Given the description of an element on the screen output the (x, y) to click on. 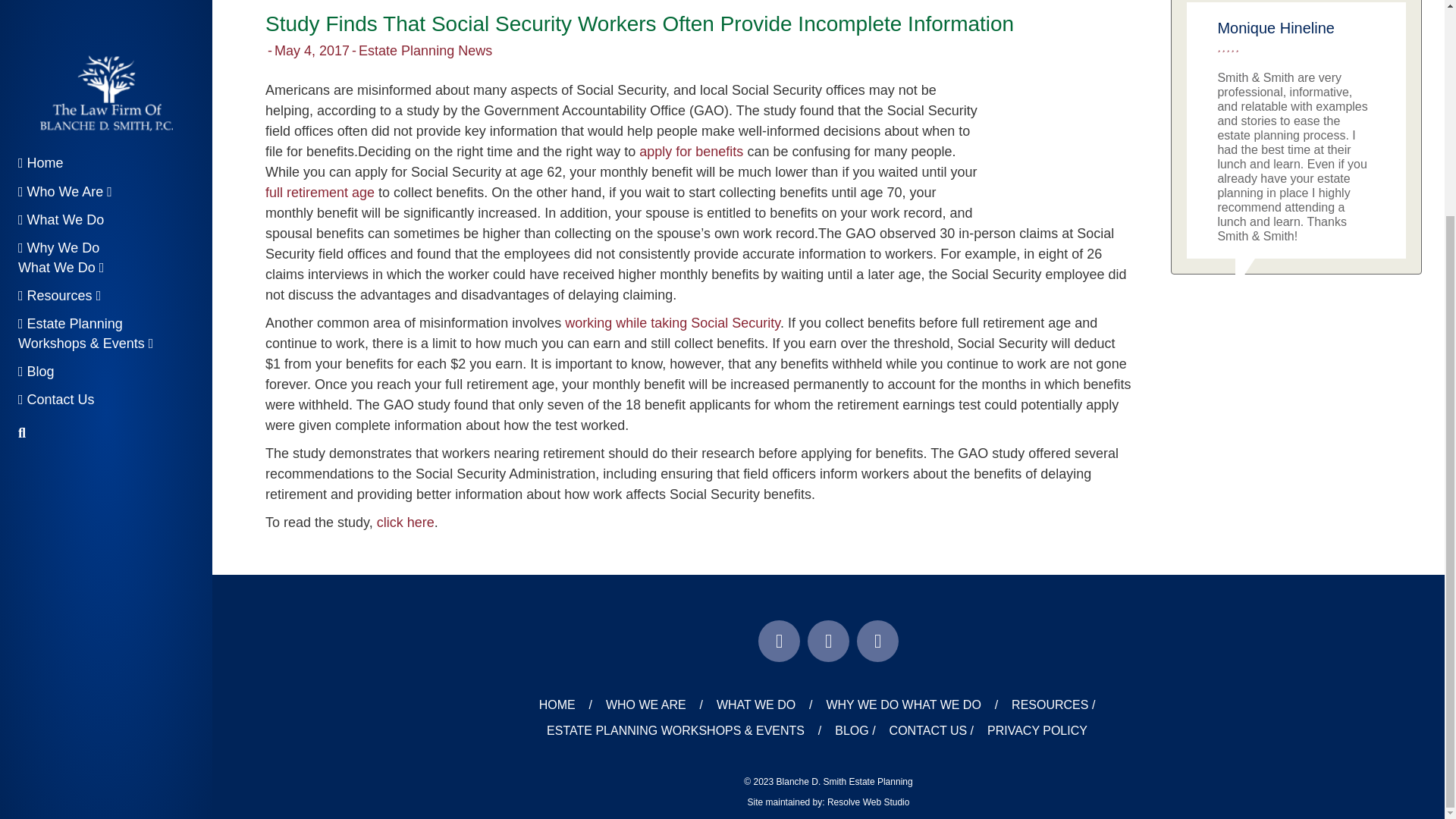
apply for benefits (690, 151)
click here (405, 522)
Contact Us (56, 118)
Resources (59, 15)
Estate Planning News (425, 50)
Blog (36, 90)
working while taking Social Security (672, 322)
SSA (1056, 148)
Resolve Web Studio (868, 801)
PRIVACY POLICY (1037, 730)
